Given the description of an element on the screen output the (x, y) to click on. 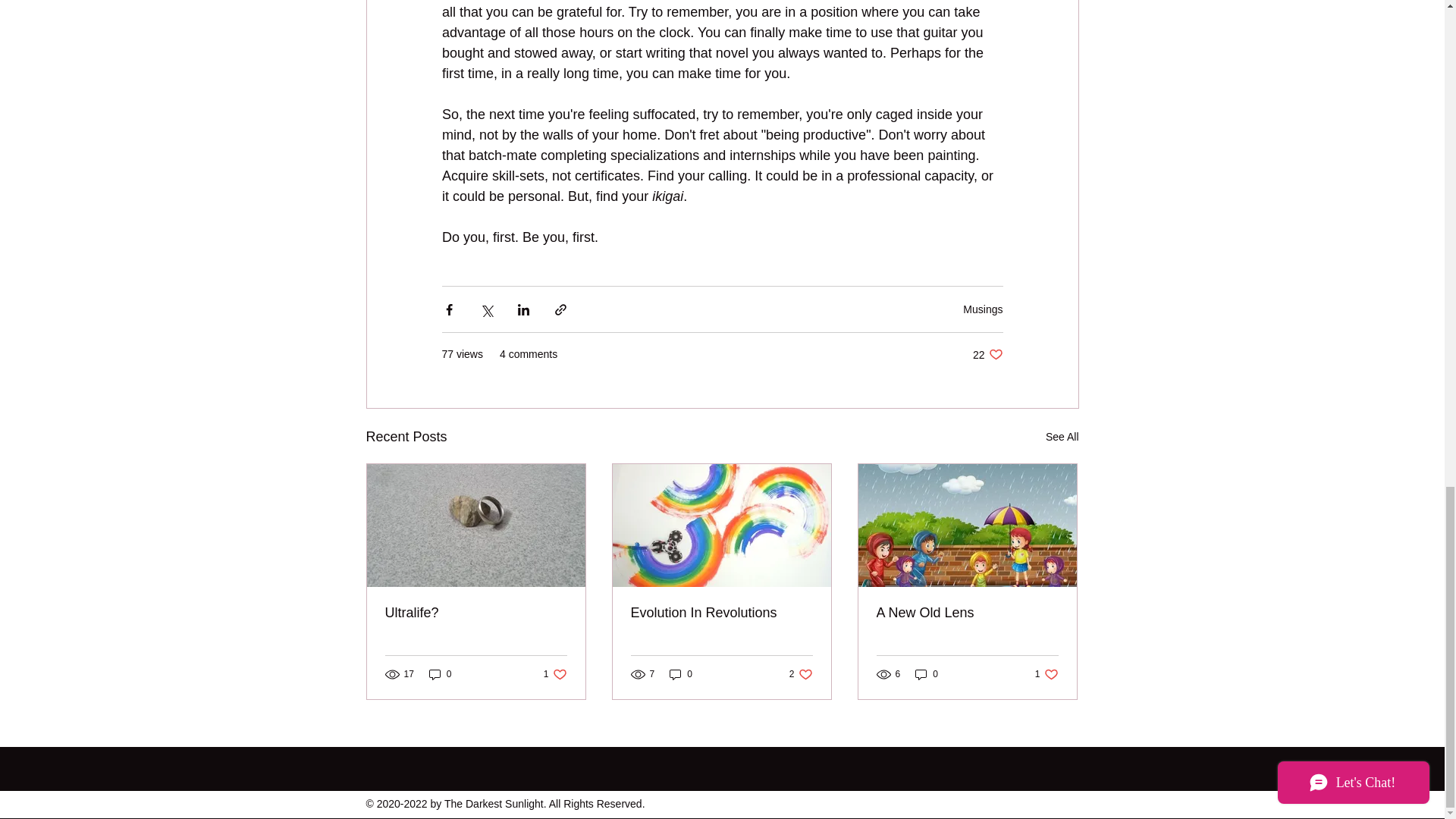
0 (926, 674)
Ultralife? (476, 612)
Musings (1046, 674)
A New Old Lens (555, 674)
See All (982, 309)
0 (967, 612)
0 (1061, 436)
